Given the description of an element on the screen output the (x, y) to click on. 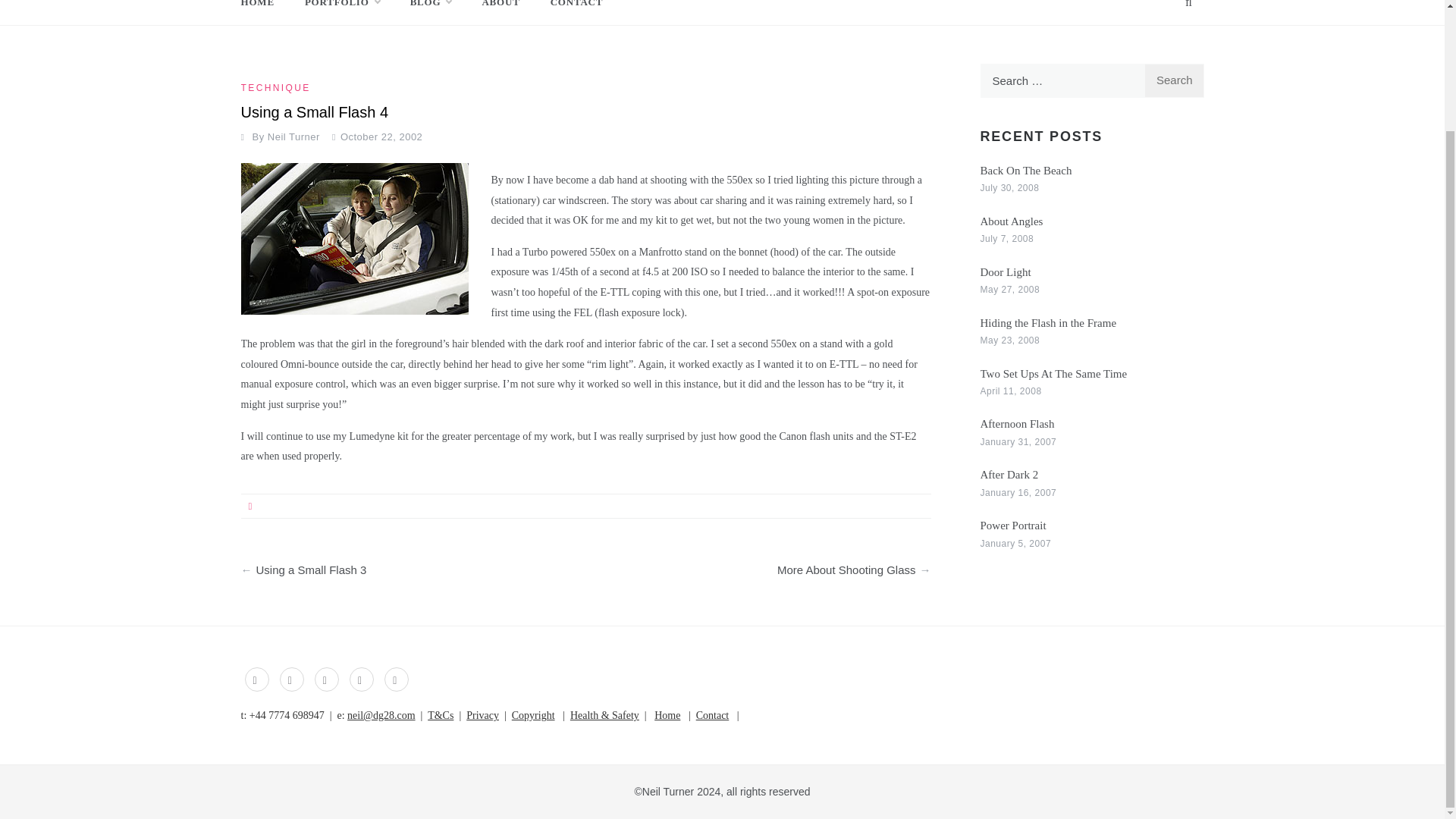
CONTACT (569, 12)
BLOG (430, 12)
ABOUT (499, 12)
Afternoon Flash (1016, 423)
TECHNIQUE (277, 87)
Search (1174, 80)
About Angles (1010, 221)
Power Portrait (1012, 525)
After Dark 2 (1008, 474)
Hiding the Flash in the Frame (1047, 322)
